Given the description of an element on the screen output the (x, y) to click on. 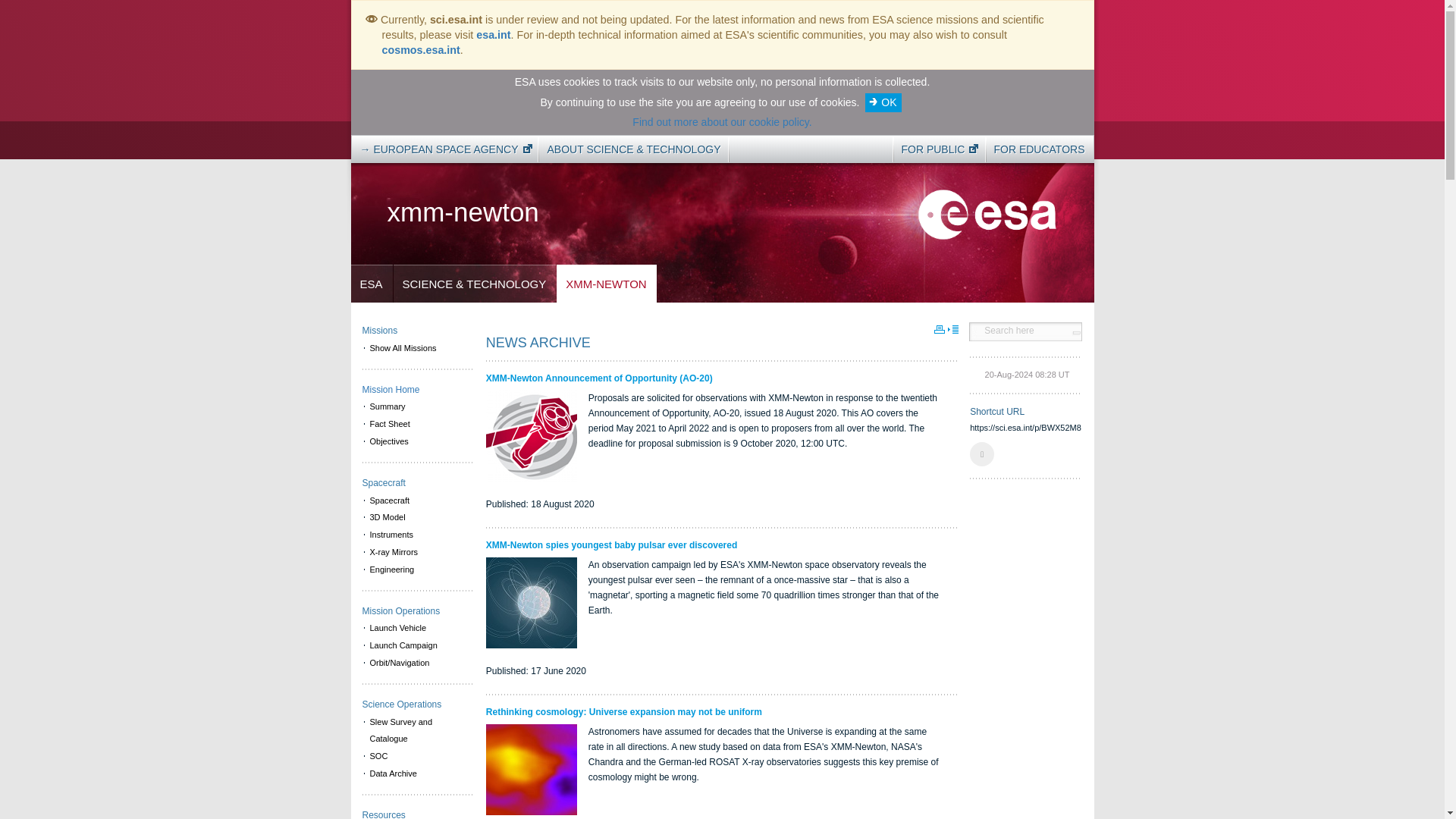
XMM-NEWTON (606, 283)
Find out more about our cookie policy. (720, 121)
Show All Missions (416, 348)
ESA (370, 283)
FOR EDUCATORS (1039, 148)
OK (882, 102)
cosmos.esa.int (420, 50)
FOR PUBLIC (935, 148)
esa.int (493, 34)
